Given the description of an element on the screen output the (x, y) to click on. 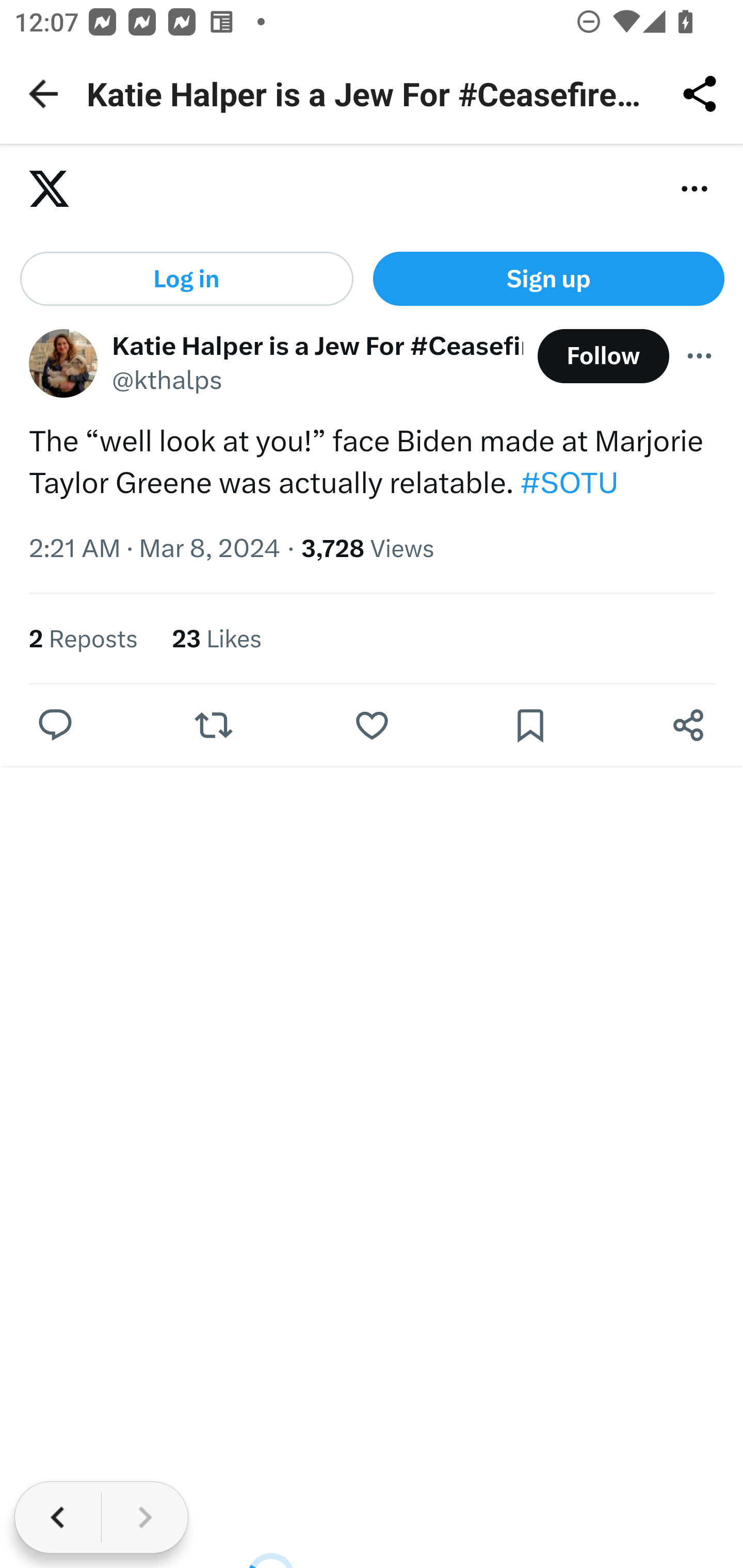
Katie Halper is a Jew For #CeasefireNow (317, 347)
Follow @kthalps (602, 357)
More (699, 356)
@kthalps (167, 383)
#SOTU (569, 484)
2:21 AM · Mar 8, 2024 (154, 548)
2 Reposts 2   Reposts (83, 638)
23 Likes 23   Likes (217, 638)
Reply (55, 727)
Repost (212, 727)
Like (371, 727)
0 Bookmarks. Bookmark (534, 727)
Share post (688, 727)
